Given the description of an element on the screen output the (x, y) to click on. 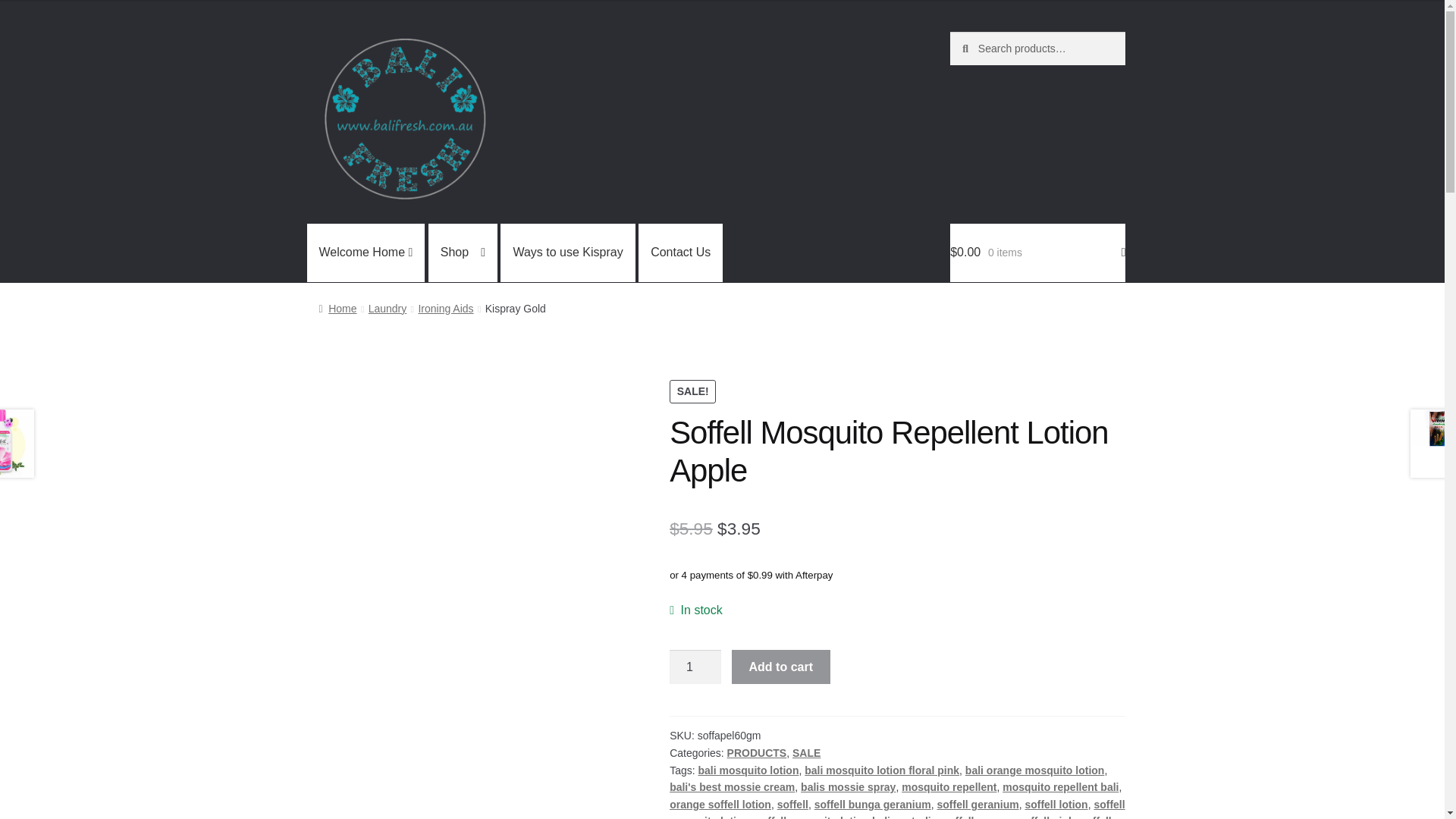
Ways to use Kispray (567, 252)
1 (694, 667)
Shop (462, 252)
bali mosquito lotion (747, 770)
Contact Us (680, 252)
bali mosquito lotion floral pink (882, 770)
PRODUCTS (756, 752)
View your shopping cart (1037, 252)
Ironing Aids (445, 308)
SALE (806, 752)
Laundry (387, 308)
Home (337, 308)
Add to cart (780, 667)
